Given the description of an element on the screen output the (x, y) to click on. 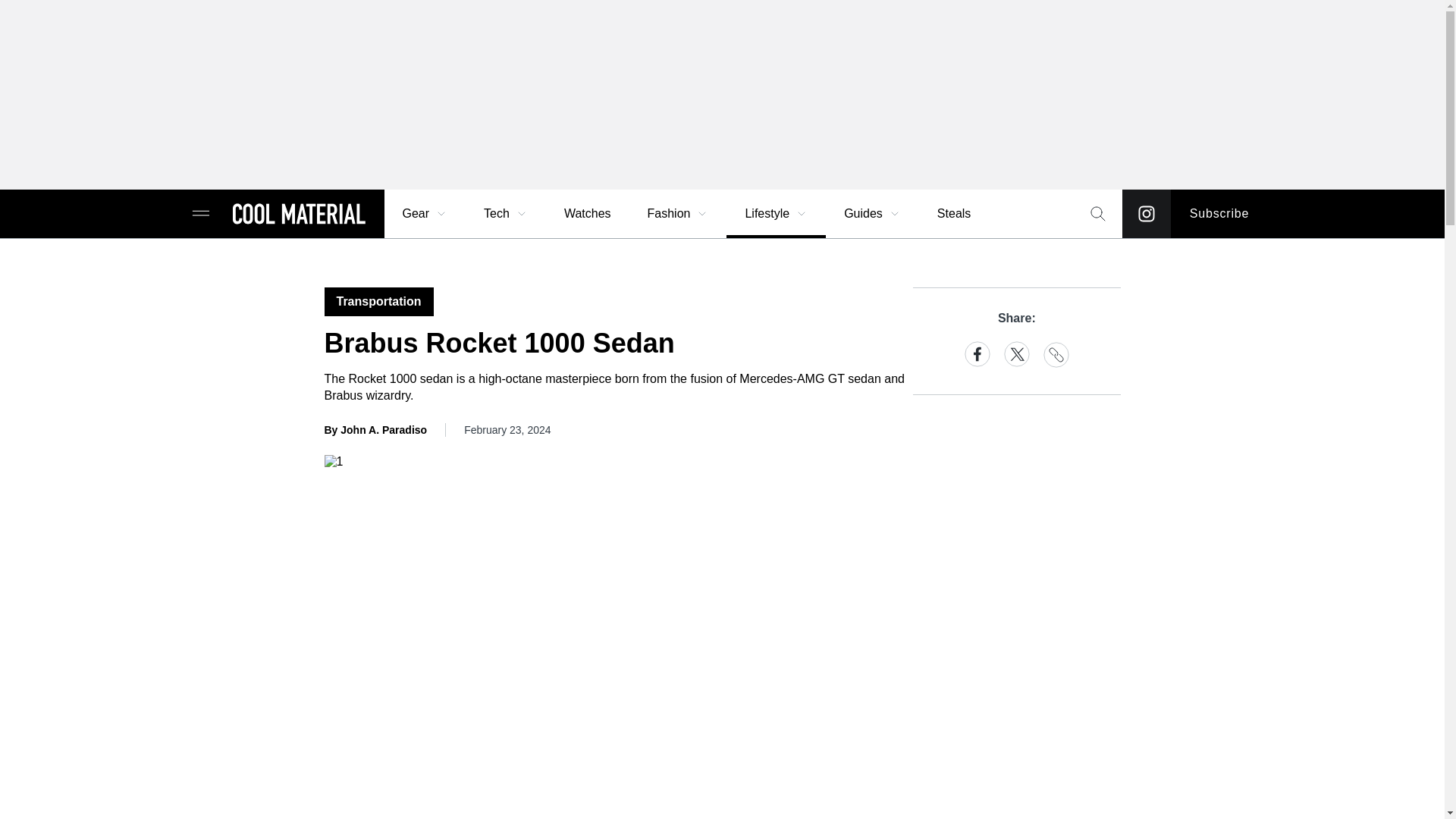
Guides (871, 213)
Tech (505, 213)
Lifestyle (775, 213)
Fashion (677, 213)
Watches (587, 213)
Gear (424, 213)
